Given the description of an element on the screen output the (x, y) to click on. 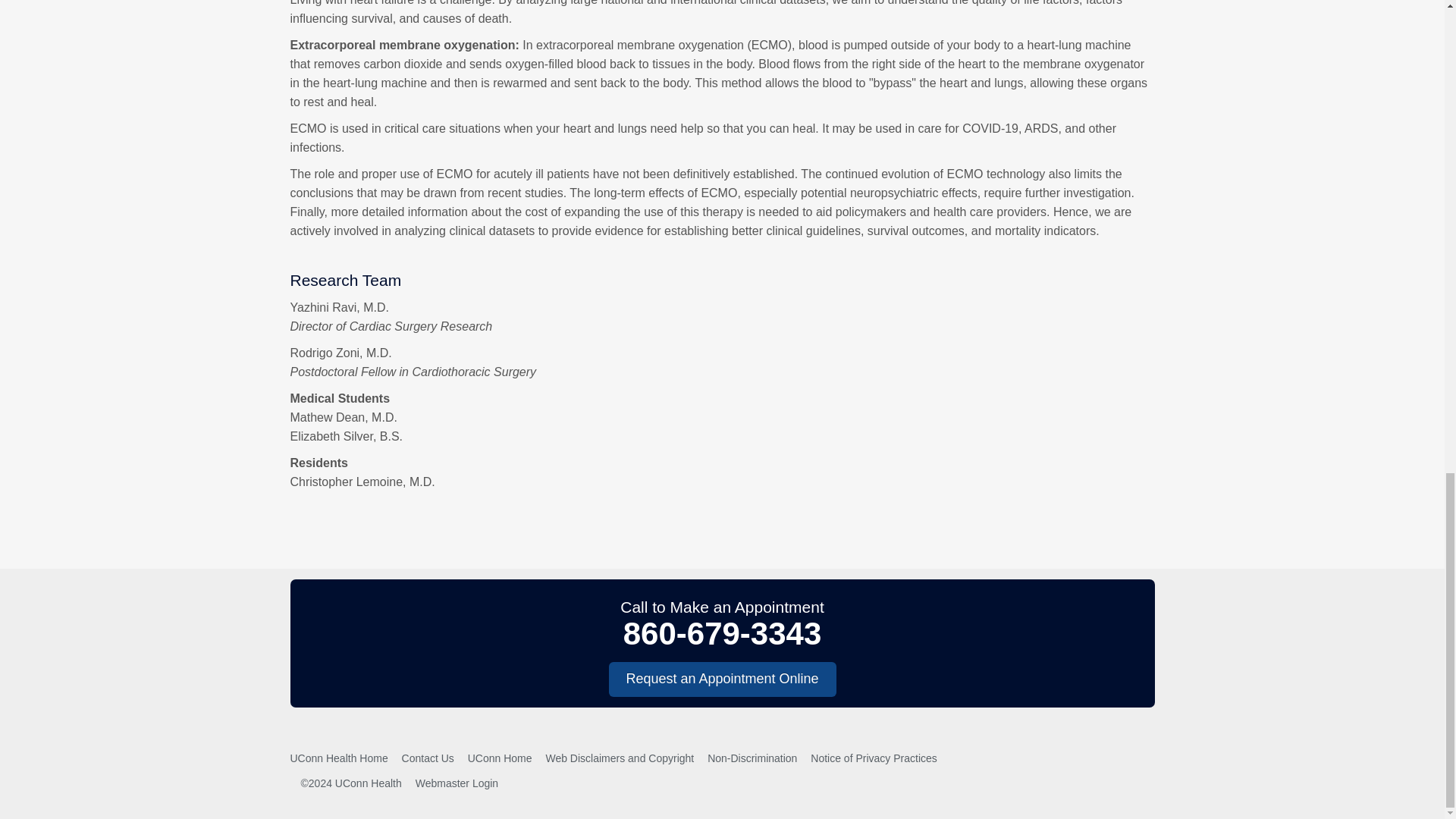
UConn Health Home (338, 758)
Webmaster Login (455, 782)
UConn Home (499, 758)
860-679-3343 (722, 633)
Non-Discrimination (751, 758)
Request an Appointment Online (721, 678)
Web Disclaimers and Copyright (619, 758)
Contact Us (427, 758)
Notice of Privacy Practices (873, 758)
